Given the description of an element on the screen output the (x, y) to click on. 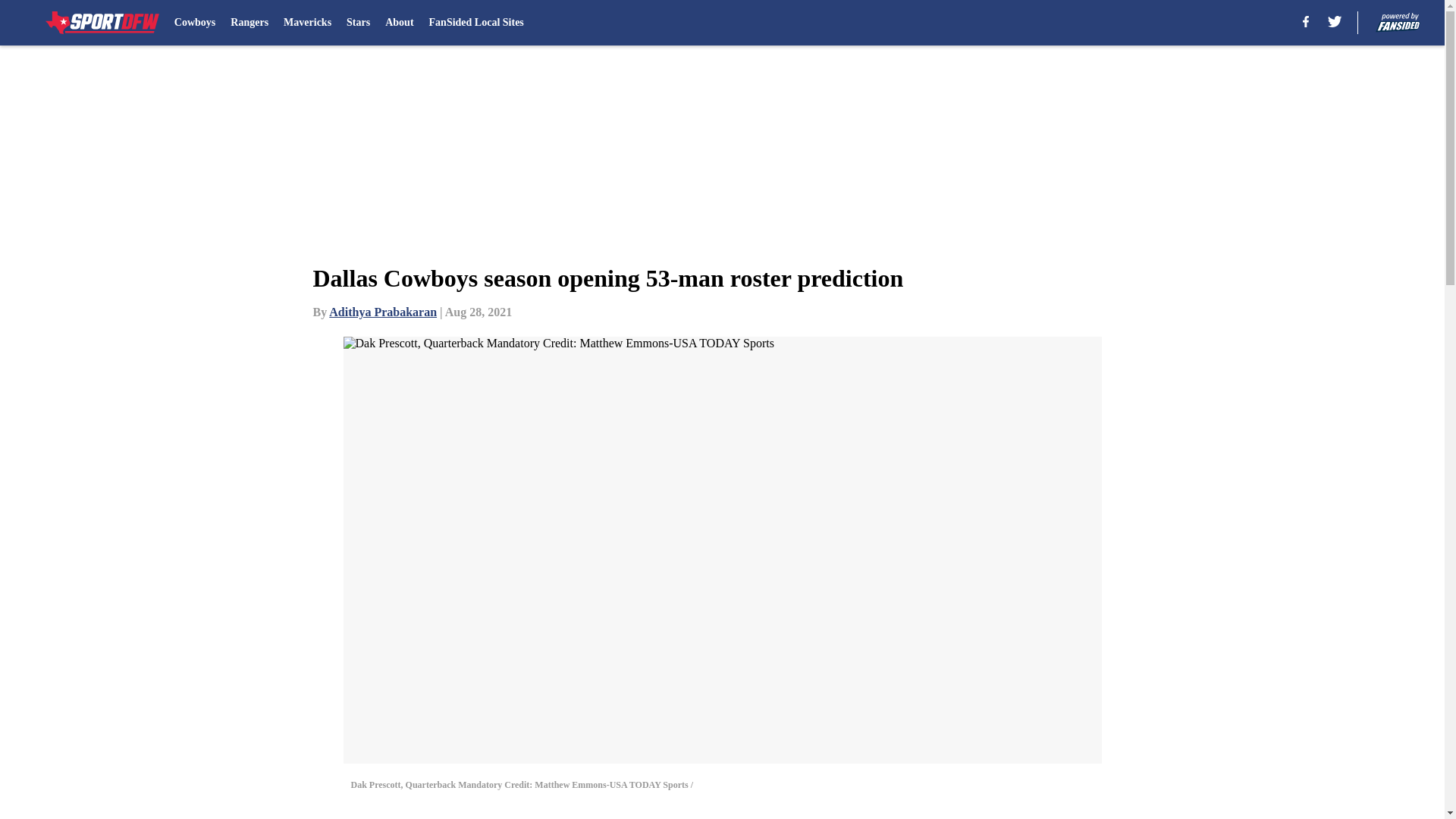
Cowboys (194, 22)
About (399, 22)
Stars (357, 22)
Rangers (248, 22)
Mavericks (307, 22)
FanSided Local Sites (476, 22)
Adithya Prabakaran (382, 311)
